Given the description of an element on the screen output the (x, y) to click on. 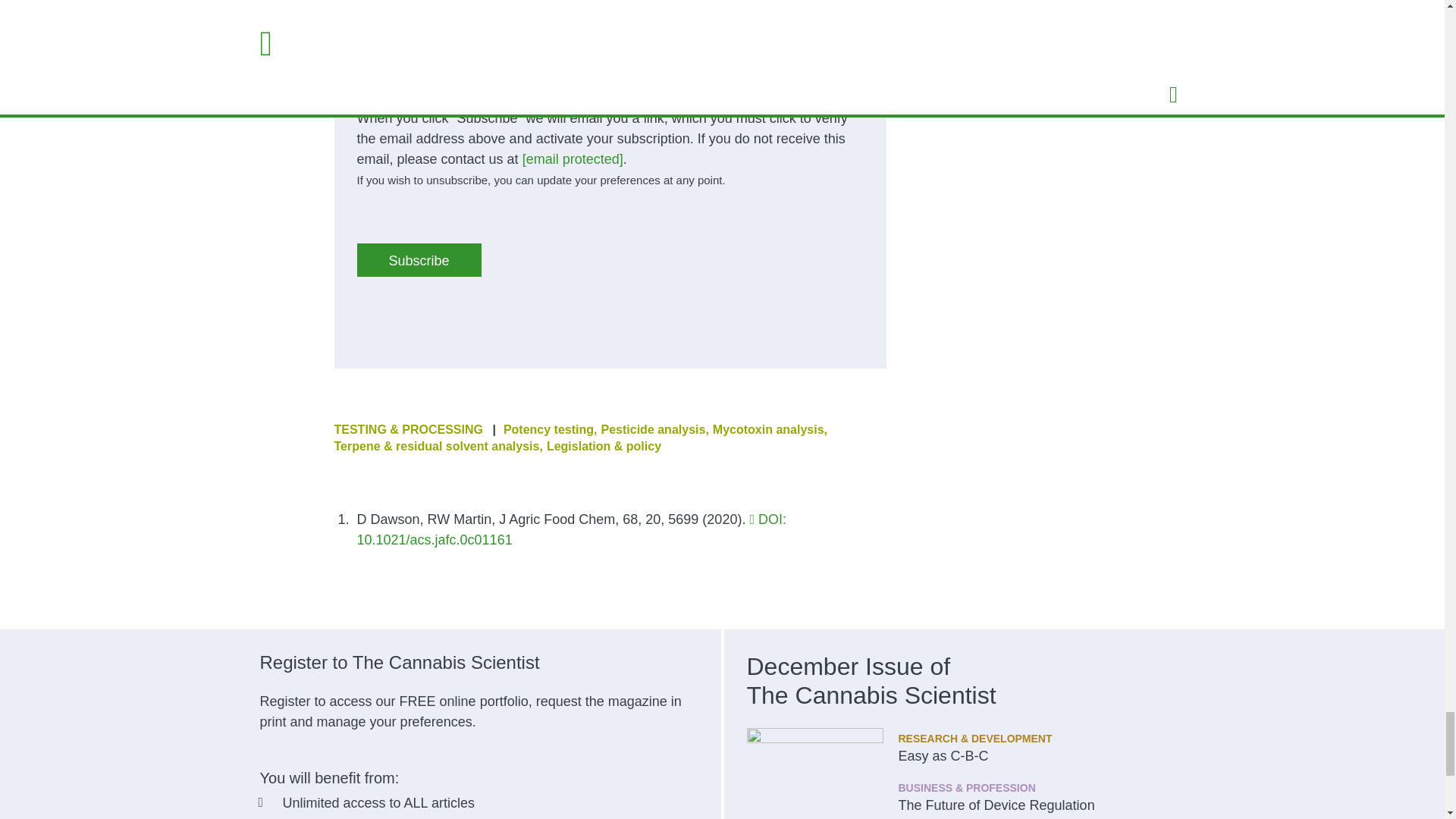
Mycotoxin analysis, (770, 429)
Privacy Notice (617, 78)
Subscribe (418, 259)
Subscribe (418, 259)
Pesticide analysis, (655, 429)
Potency testing, (549, 429)
